Given the description of an element on the screen output the (x, y) to click on. 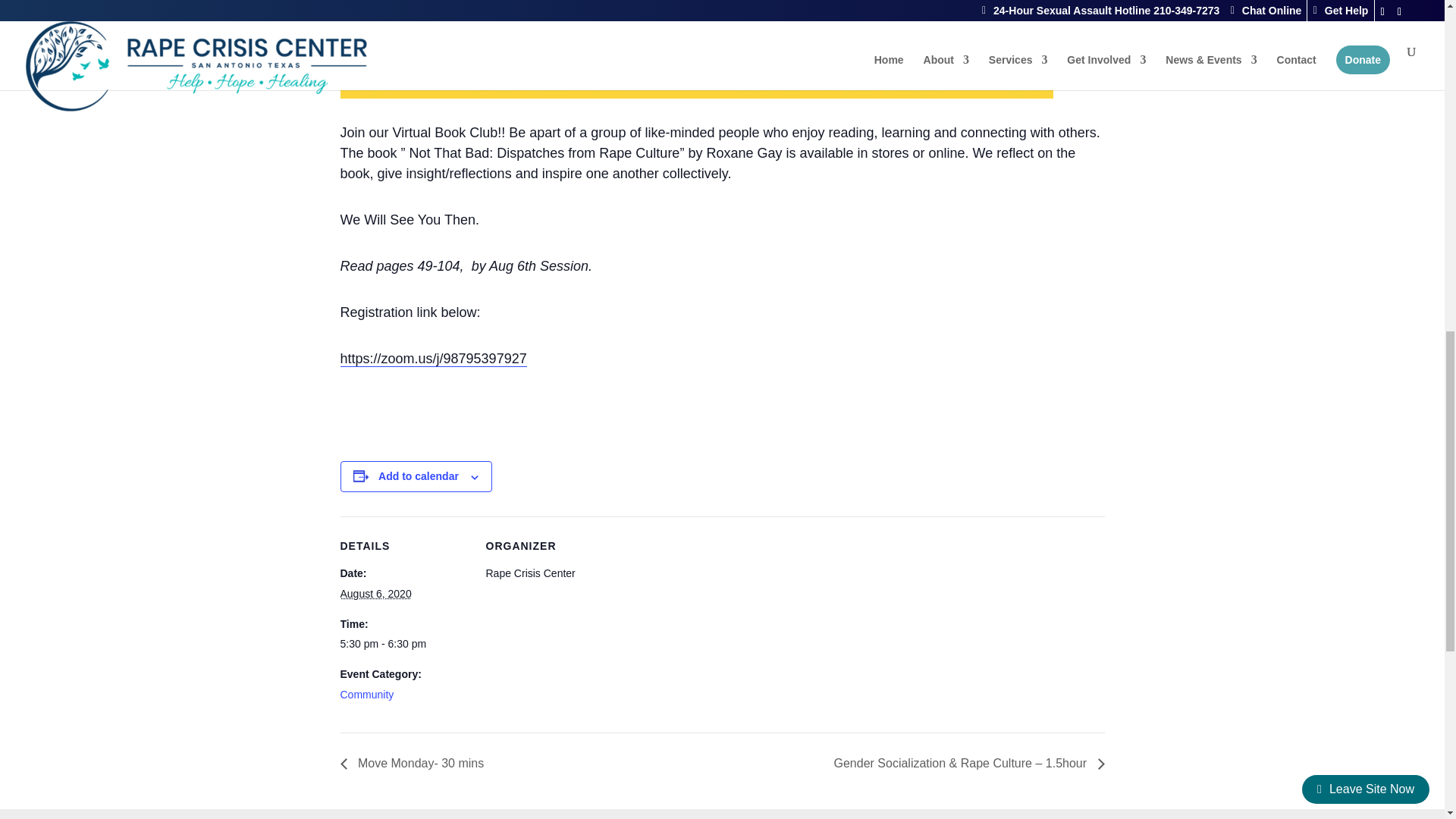
2020-08-06 (403, 644)
2020-08-06 (374, 593)
